Given the description of an element on the screen output the (x, y) to click on. 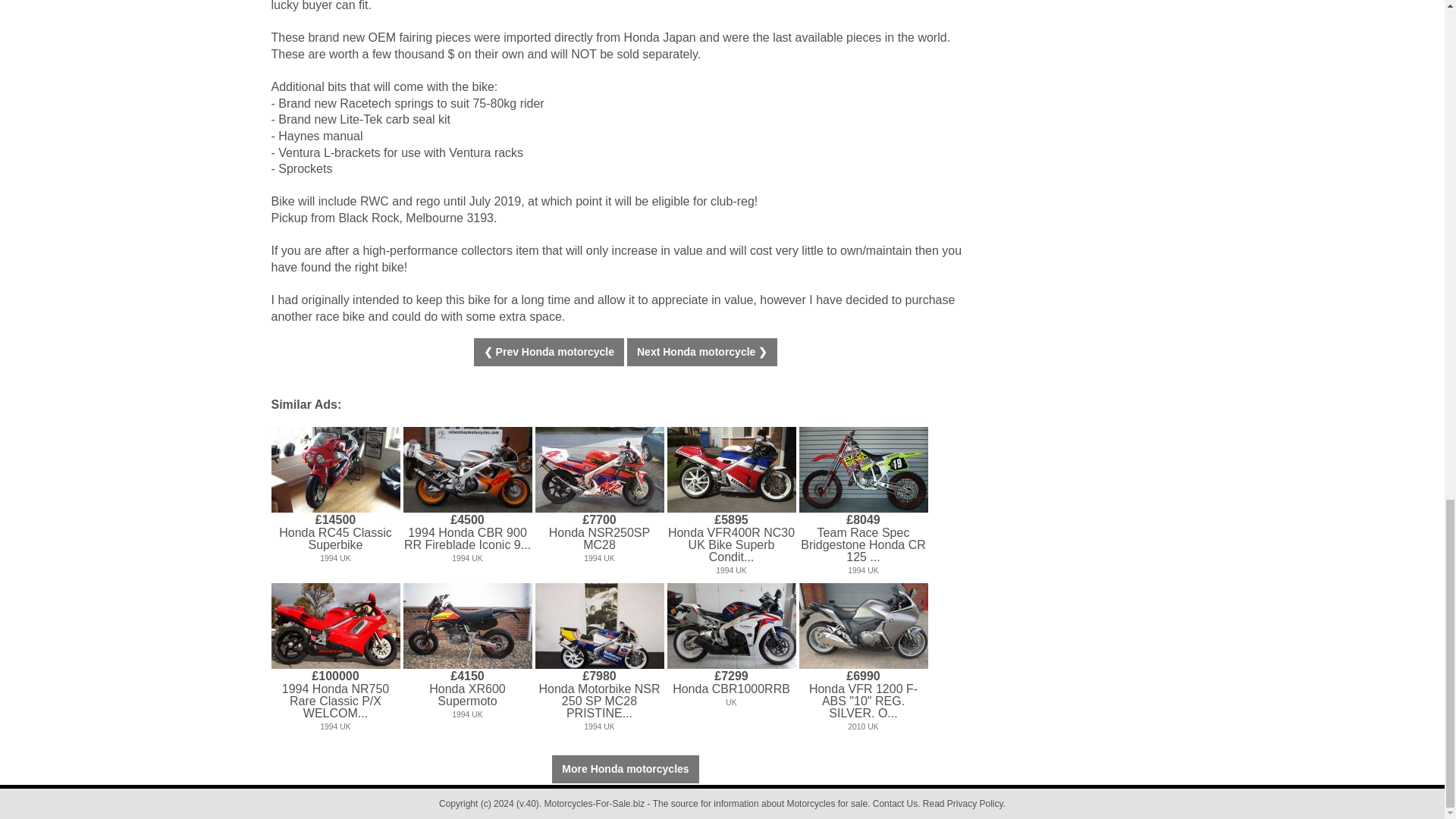
Next Honda moto for sale (702, 352)
More Honda motorcycles (624, 768)
Honda RC45 Classic Superbike for sale (335, 469)
Honda NSR250SP MC28 for sale (599, 469)
Previous Honda moto for sale (549, 352)
Honda VFR400R NC30 UK Bike Superb Condition for sale (731, 469)
